Given the description of an element on the screen output the (x, y) to click on. 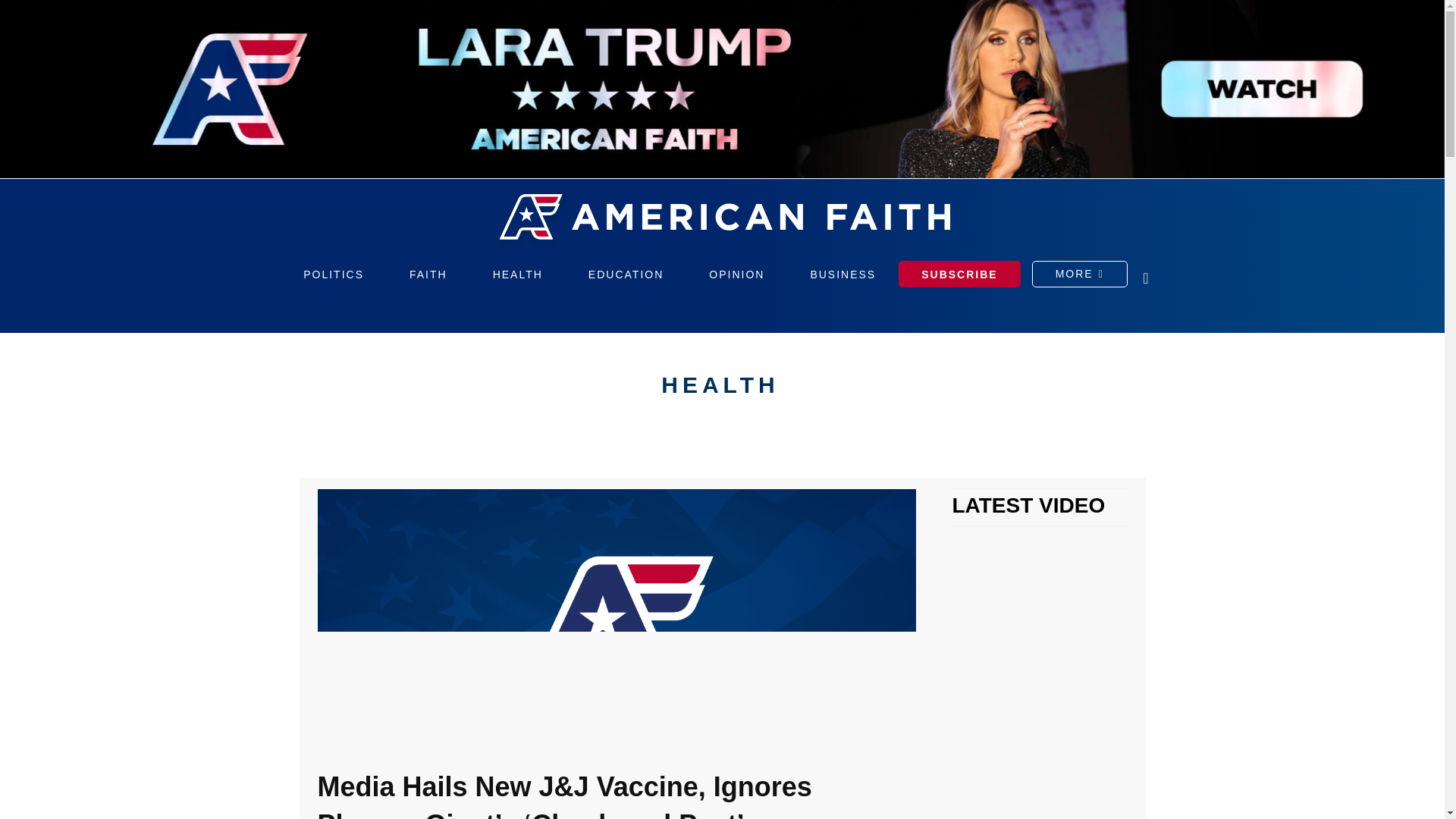
SUBSCRIBE (959, 273)
FAITH (428, 274)
EDUCATION (625, 274)
MORE (1079, 279)
POLITICS (334, 274)
HEALTH (719, 385)
HEALTH (518, 274)
BUSINESS (842, 274)
OPINION (736, 274)
